Given the description of an element on the screen output the (x, y) to click on. 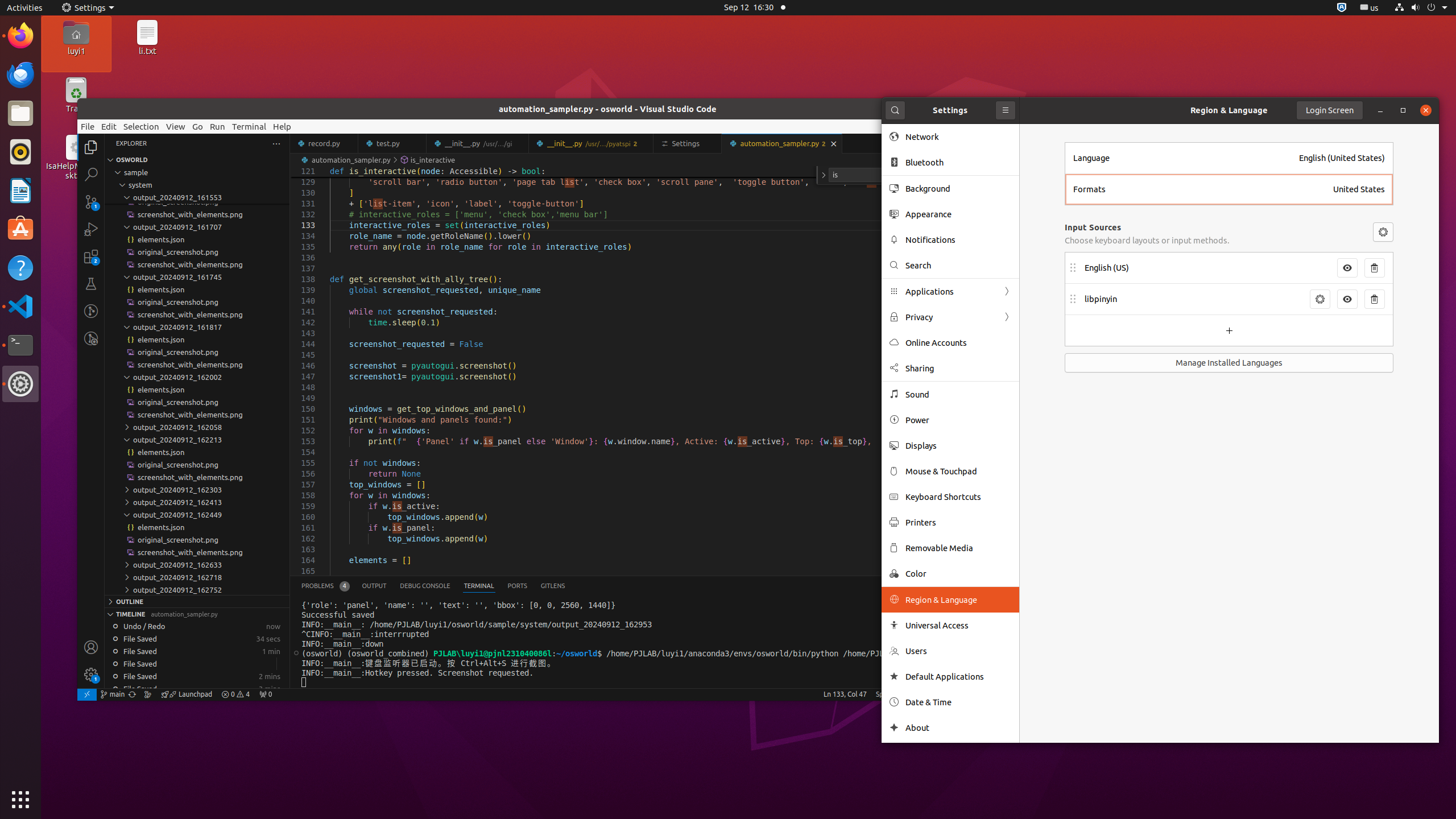
English (US) Element type: label (1207, 267)
Displays Element type: label (958, 445)
